Given the description of an element on the screen output the (x, y) to click on. 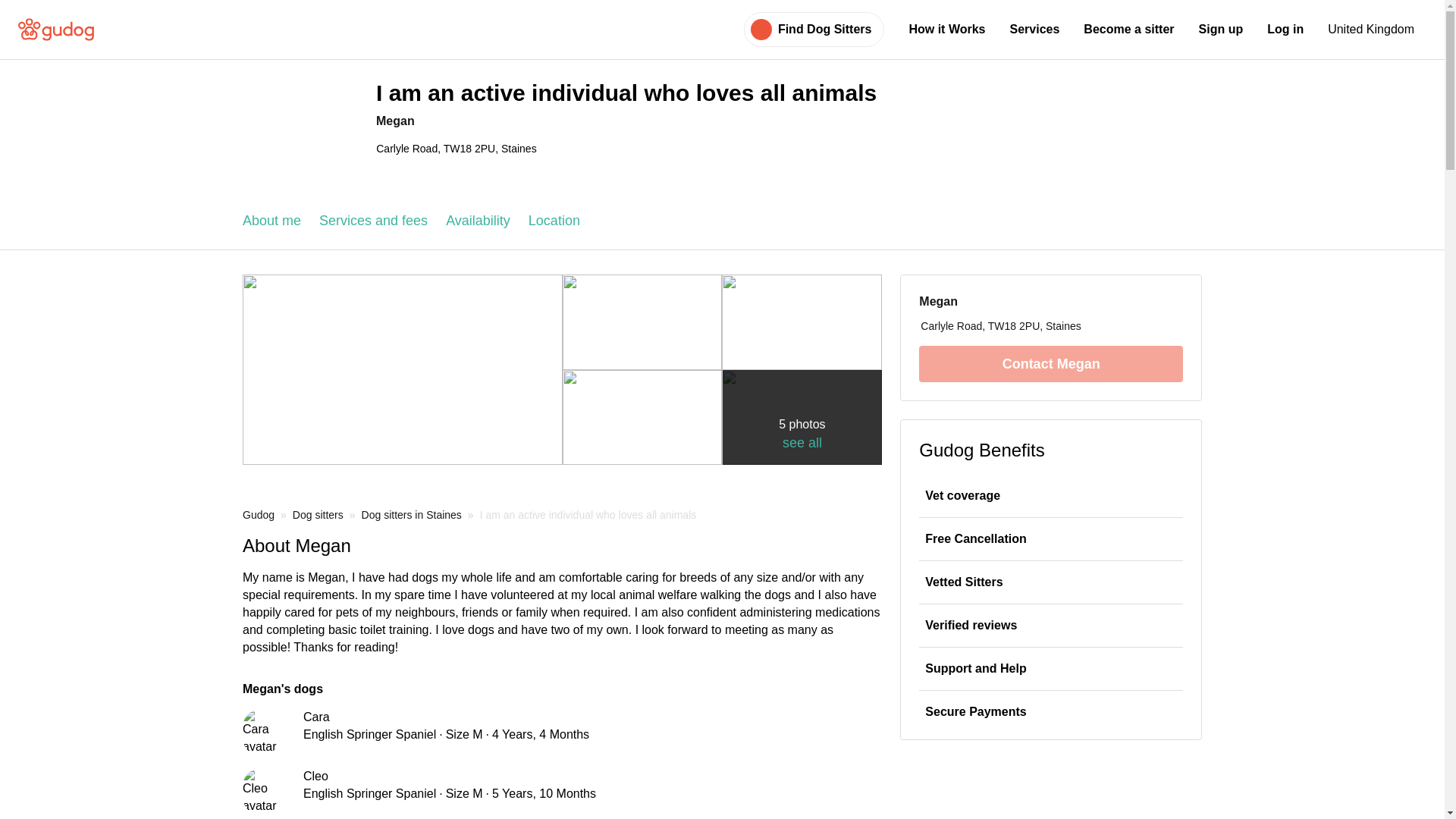
Contact Megan (1050, 363)
Sign up (1220, 29)
About me (272, 220)
Log in (1284, 29)
Services (1034, 29)
Availability (478, 220)
Services and fees (373, 220)
How it Works (946, 29)
Find Dog Sitters (824, 29)
Dog sitters in Staines (411, 514)
